Given the description of an element on the screen output the (x, y) to click on. 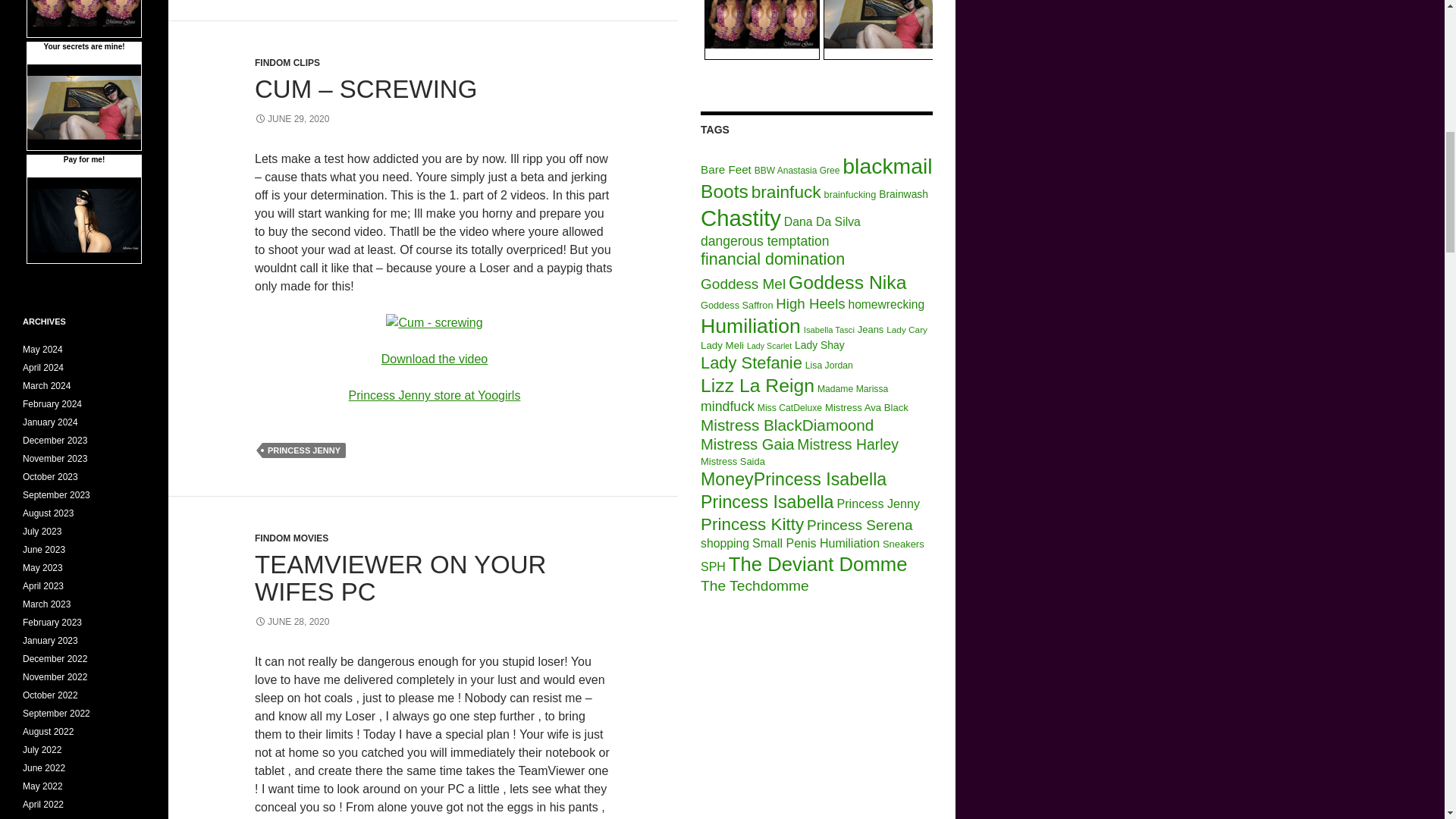
FINDOM CLIPS (287, 62)
FINDOM MOVIES (291, 538)
Download the video (434, 358)
JUNE 28, 2020 (291, 621)
Princess Jenny store at Yoogirls (435, 395)
PRINCESS JENNY (304, 450)
JUNE 29, 2020 (291, 118)
TEAMVIEWER ON YOUR WIFES PC (400, 578)
